Given the description of an element on the screen output the (x, y) to click on. 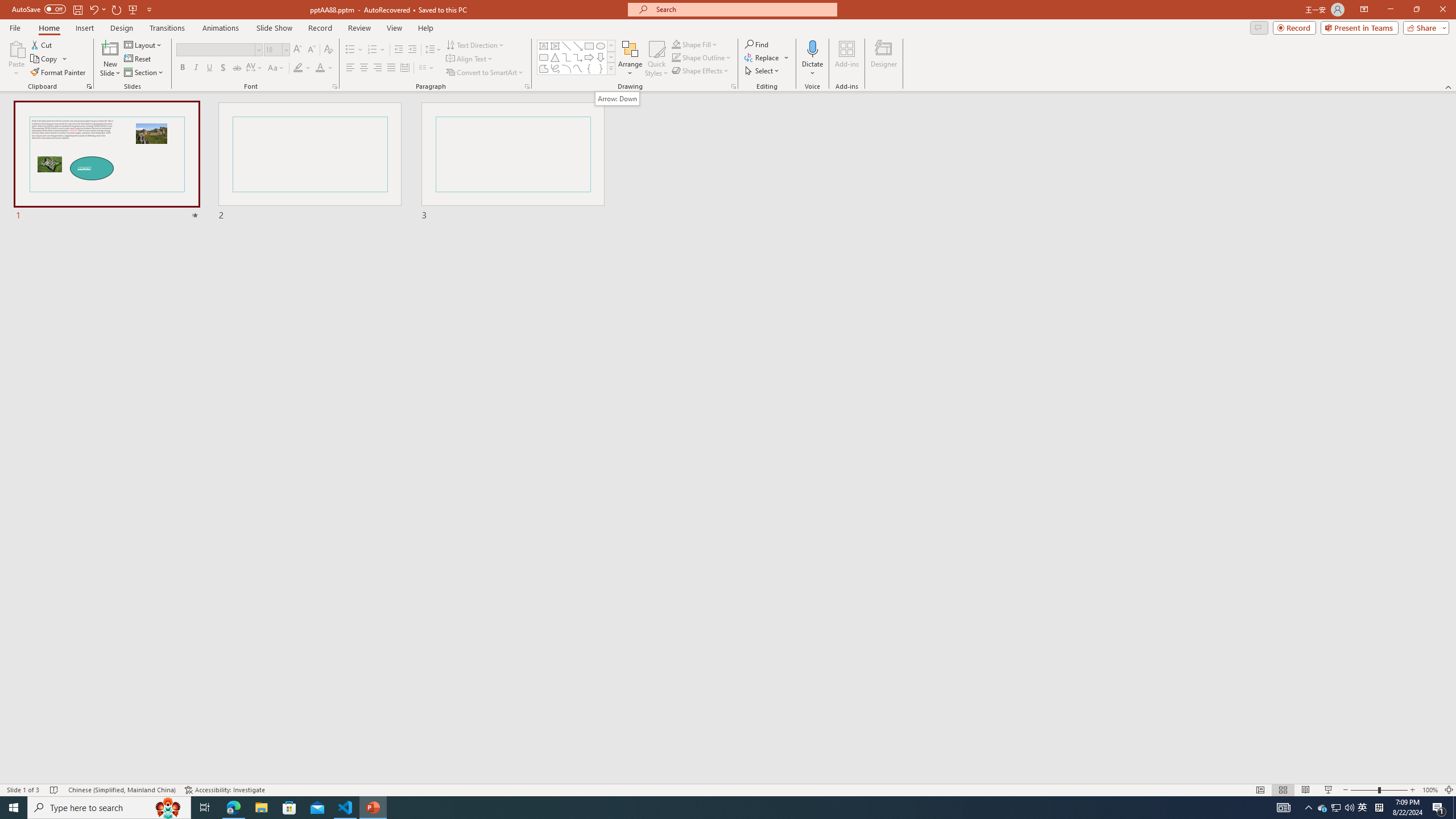
AutomationID: ShapesInsertGallery (576, 57)
Cut (42, 44)
Arrow: Down (617, 98)
Shape Outline Teal, Accent 1 (675, 56)
Arc (566, 68)
Line Arrow (577, 45)
Font Color (324, 67)
